Given the description of an element on the screen output the (x, y) to click on. 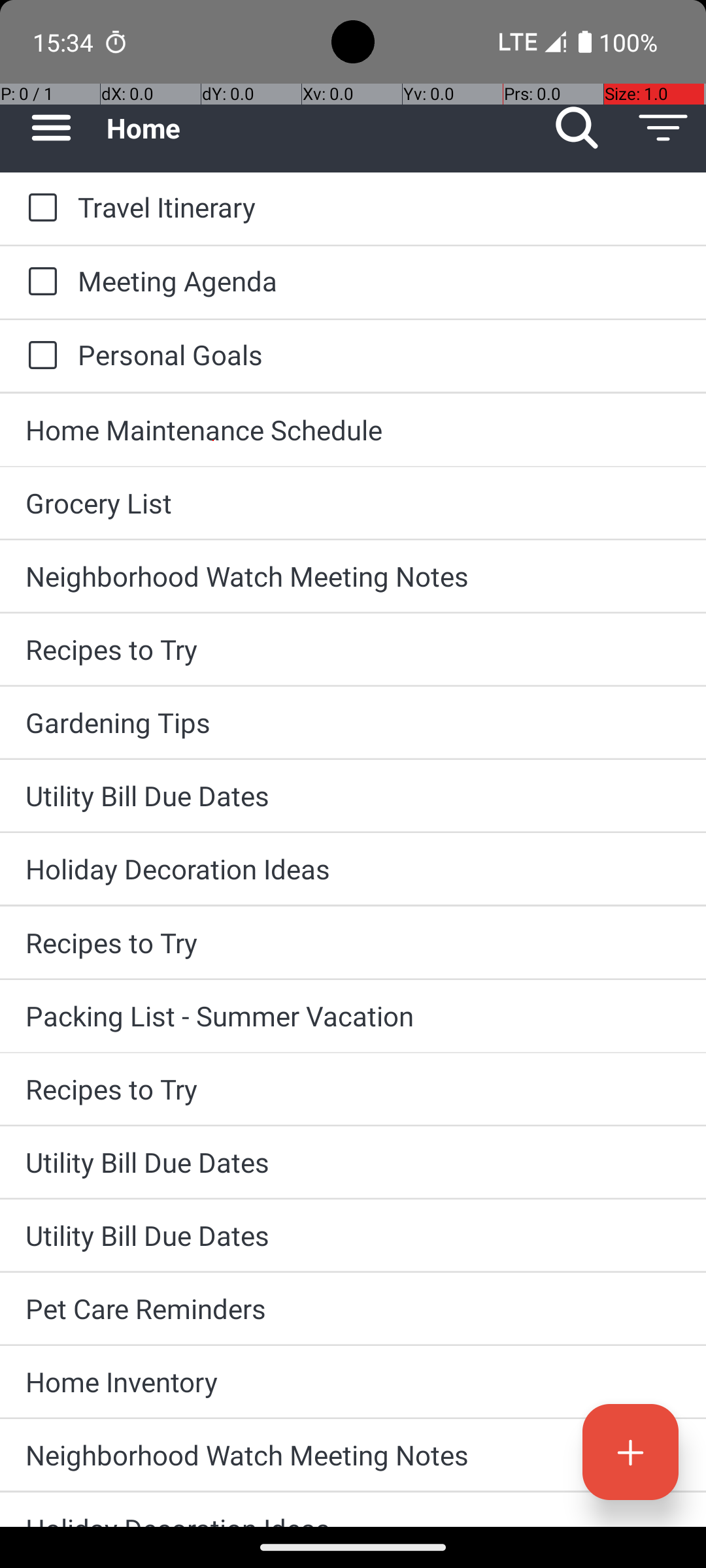
to-do: Travel Itinerary Element type: android.widget.CheckBox (38, 208)
Travel Itinerary Element type: android.widget.TextView (378, 206)
to-do: Meeting Agenda Element type: android.widget.CheckBox (38, 282)
to-do: Personal Goals Element type: android.widget.CheckBox (38, 356)
Personal Goals Element type: android.widget.TextView (378, 354)
Home Maintenance Schedule Element type: android.widget.TextView (352, 429)
Grocery List Element type: android.widget.TextView (352, 502)
Neighborhood Watch Meeting Notes Element type: android.widget.TextView (352, 575)
Recipes to Try Element type: android.widget.TextView (352, 648)
Gardening Tips Element type: android.widget.TextView (352, 721)
Utility Bill Due Dates Element type: android.widget.TextView (352, 795)
Holiday Decoration Ideas Element type: android.widget.TextView (352, 868)
Packing List - Summer Vacation Element type: android.widget.TextView (352, 1015)
Pet Care Reminders Element type: android.widget.TextView (352, 1307)
Home Inventory Element type: android.widget.TextView (352, 1381)
